Given the description of an element on the screen output the (x, y) to click on. 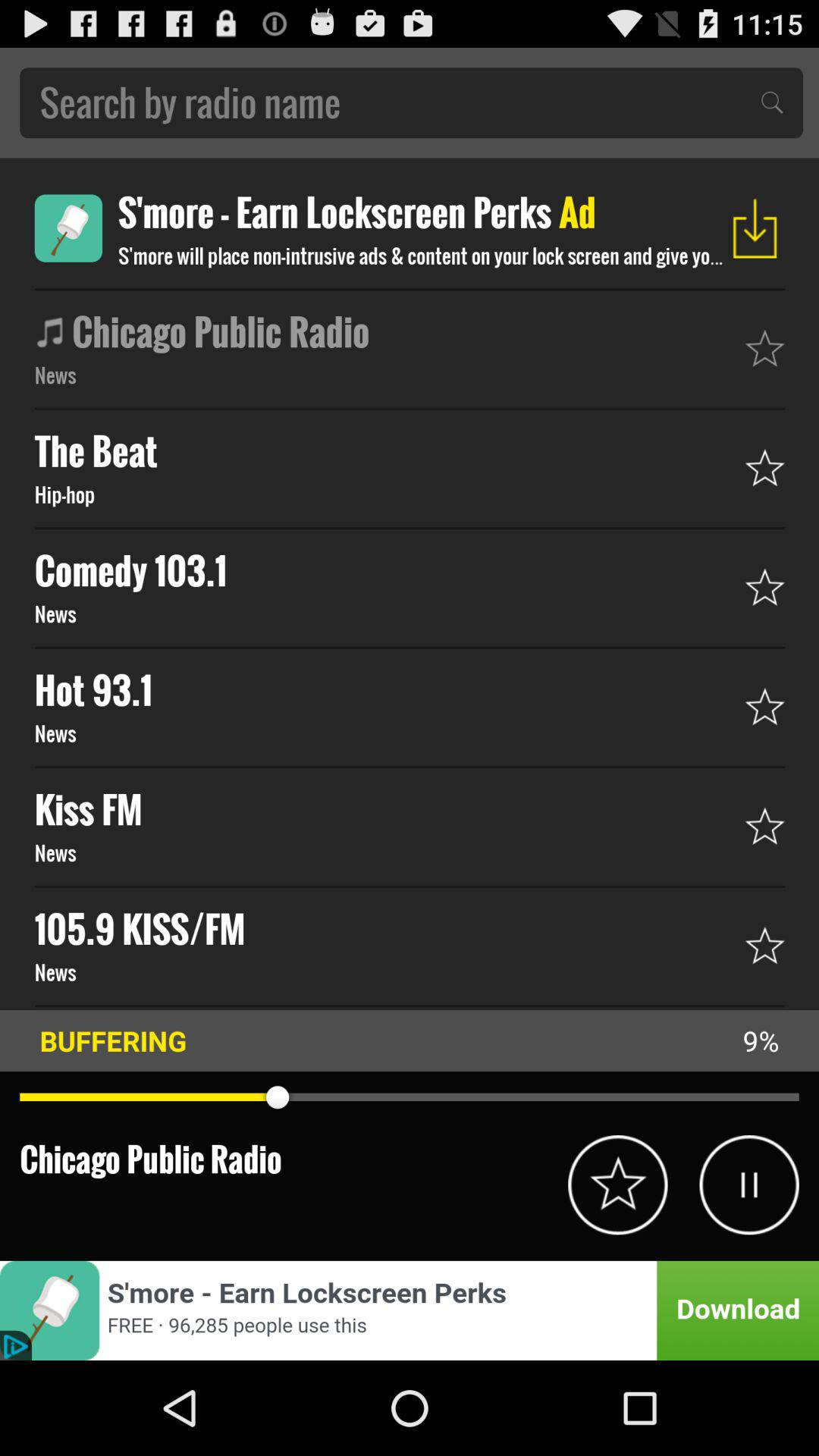
favorite this radio station (617, 1184)
